Given the description of an element on the screen output the (x, y) to click on. 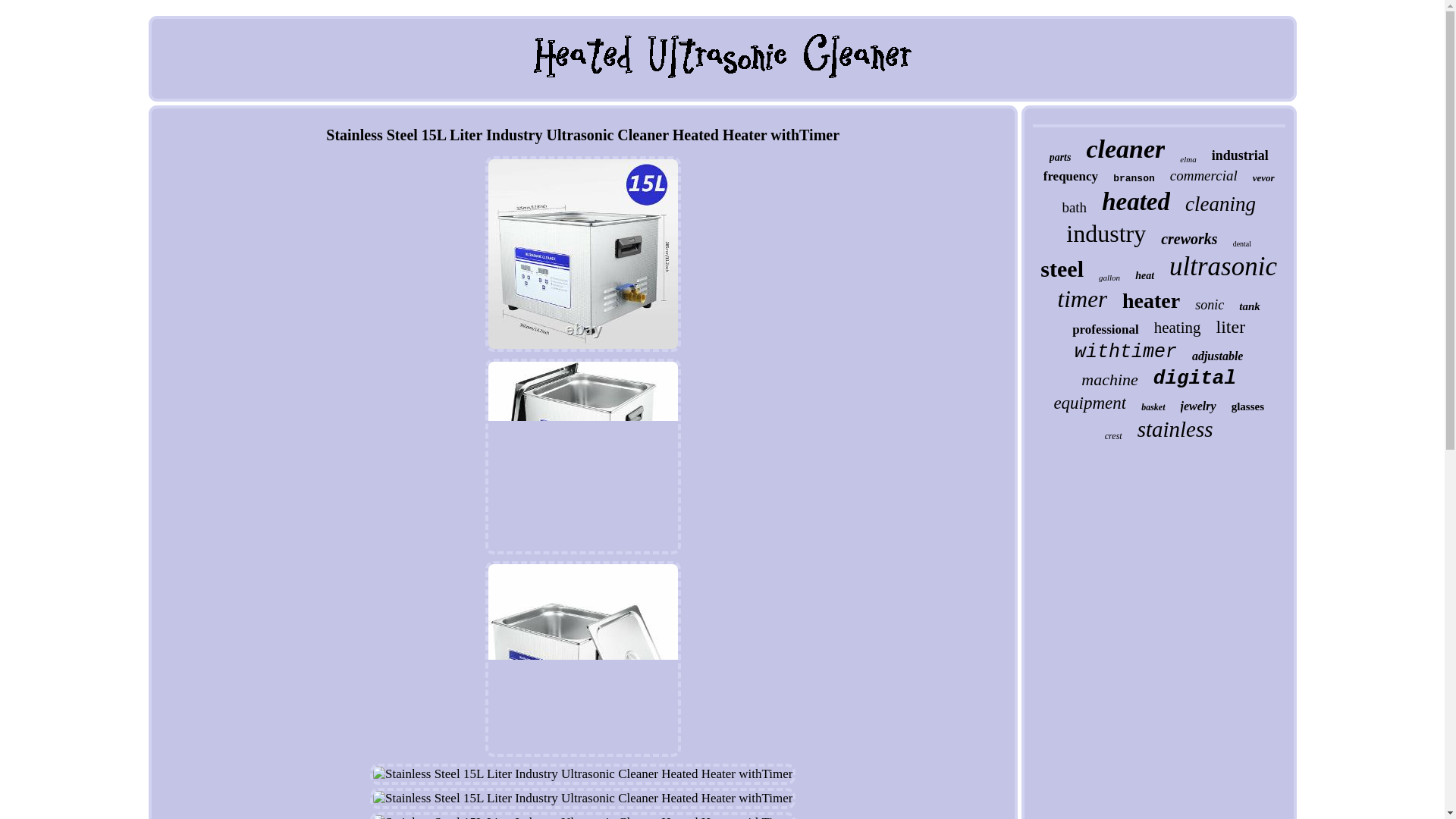
branson (1133, 178)
machine (1109, 379)
gallon (1109, 276)
bath (1073, 207)
industrial (1239, 155)
heating (1177, 327)
cleaning (1220, 204)
cleaner (1125, 149)
